Given the description of an element on the screen output the (x, y) to click on. 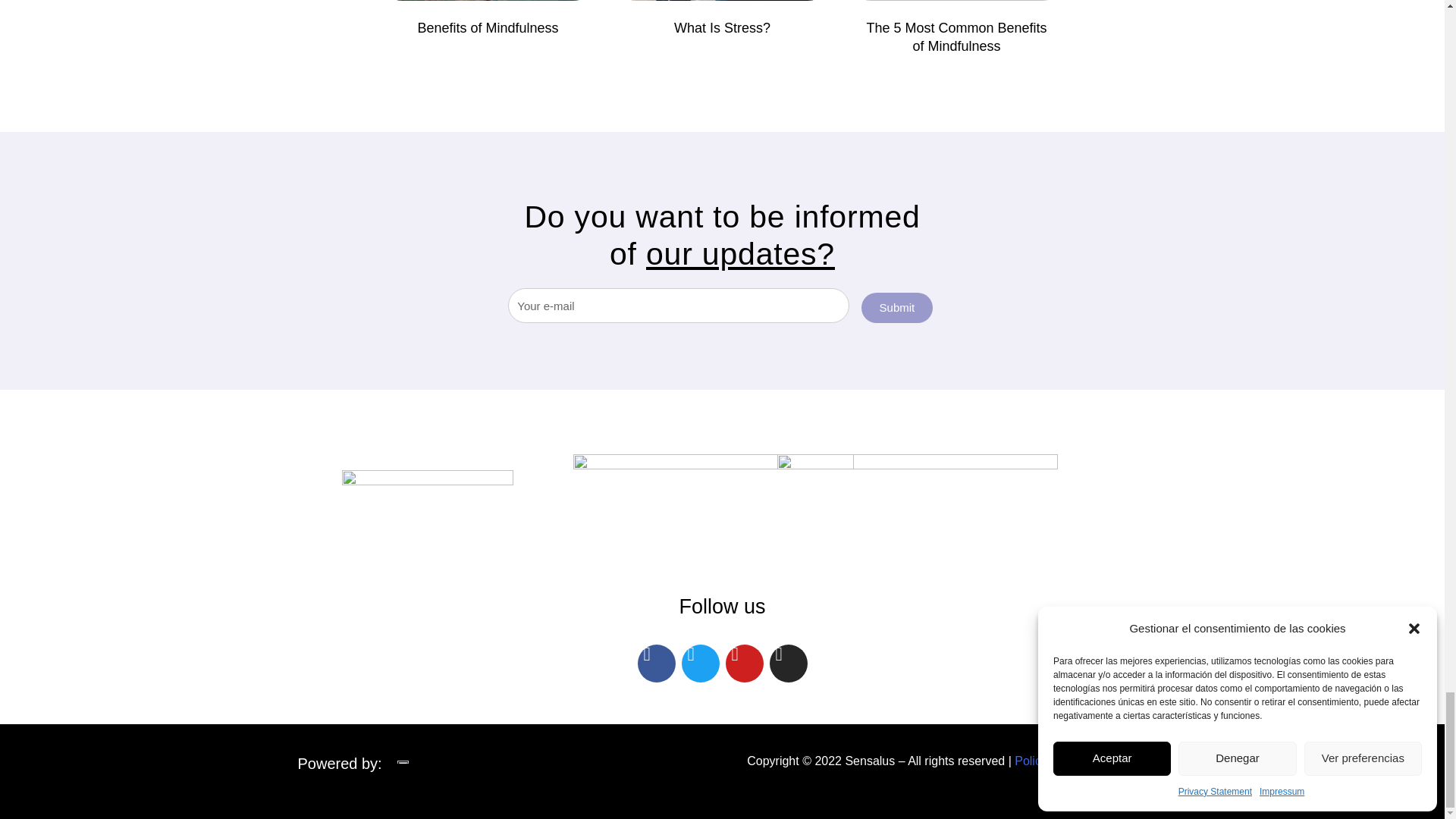
Benefits of Mindfulness (486, 28)
Submit (897, 307)
What Is Stress? (722, 28)
The 5 Most Common Benefits of Mindfulness (956, 36)
Benefits of Mindfulness (486, 28)
What Is Stress? (722, 28)
The 5 Most Common Benefits of Mindfulness (956, 36)
